Given the description of an element on the screen output the (x, y) to click on. 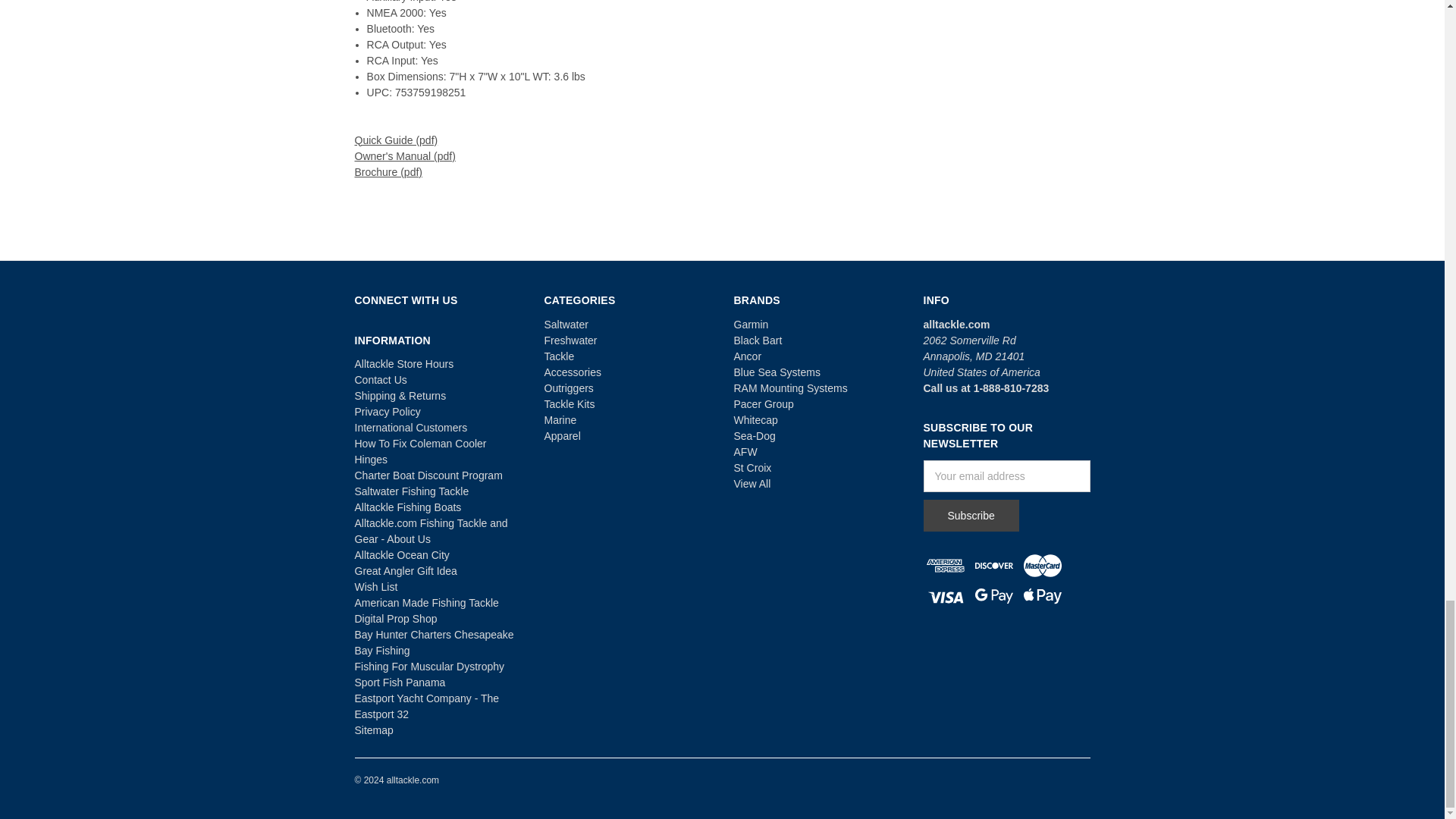
Subscribe (971, 515)
